Given the description of an element on the screen output the (x, y) to click on. 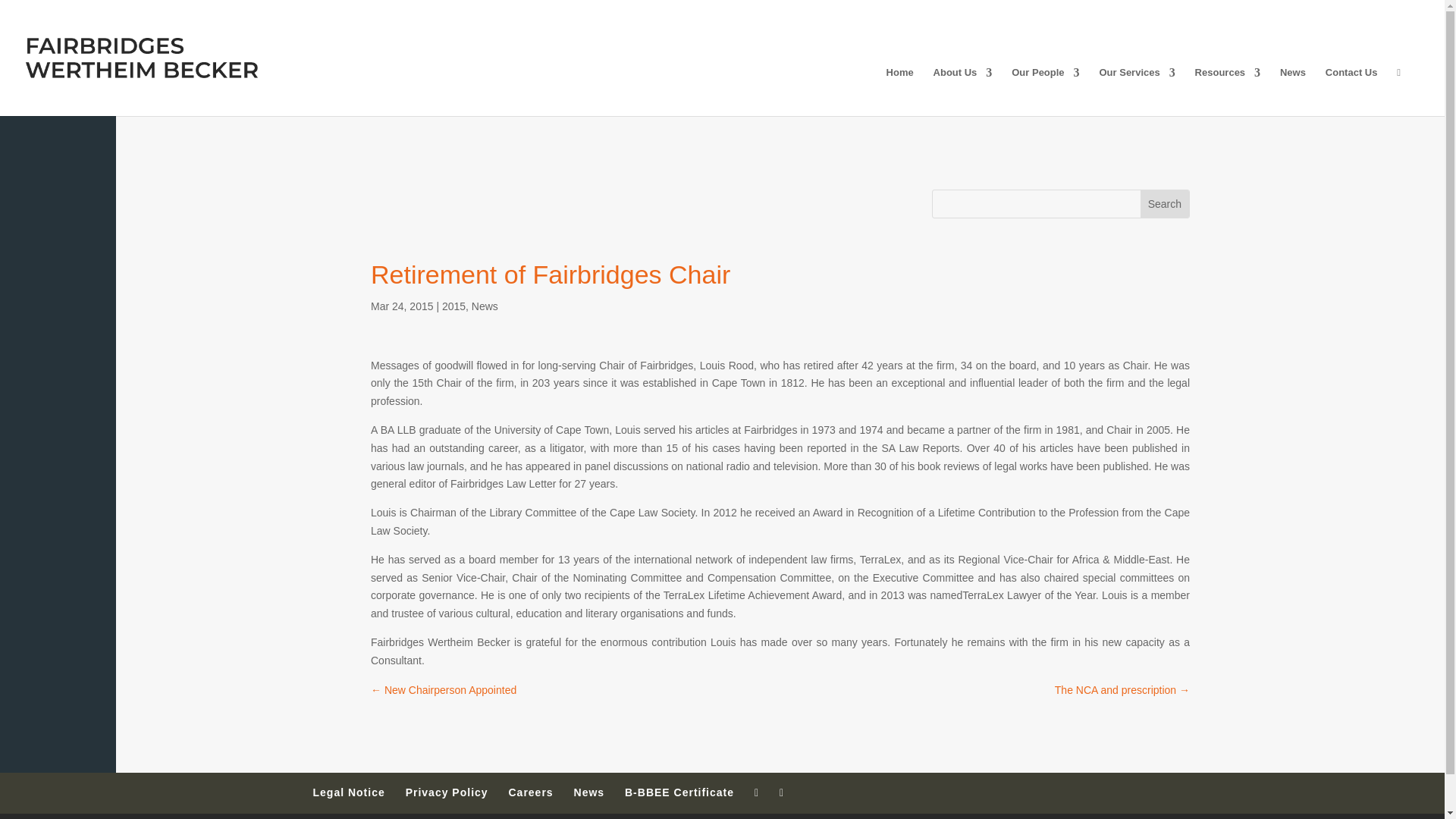
Resources (1227, 91)
Search (1164, 203)
Our Services (1136, 91)
Our People (1044, 91)
Contact Us (1350, 91)
Search (1164, 203)
About Us (962, 91)
